Given the description of an element on the screen output the (x, y) to click on. 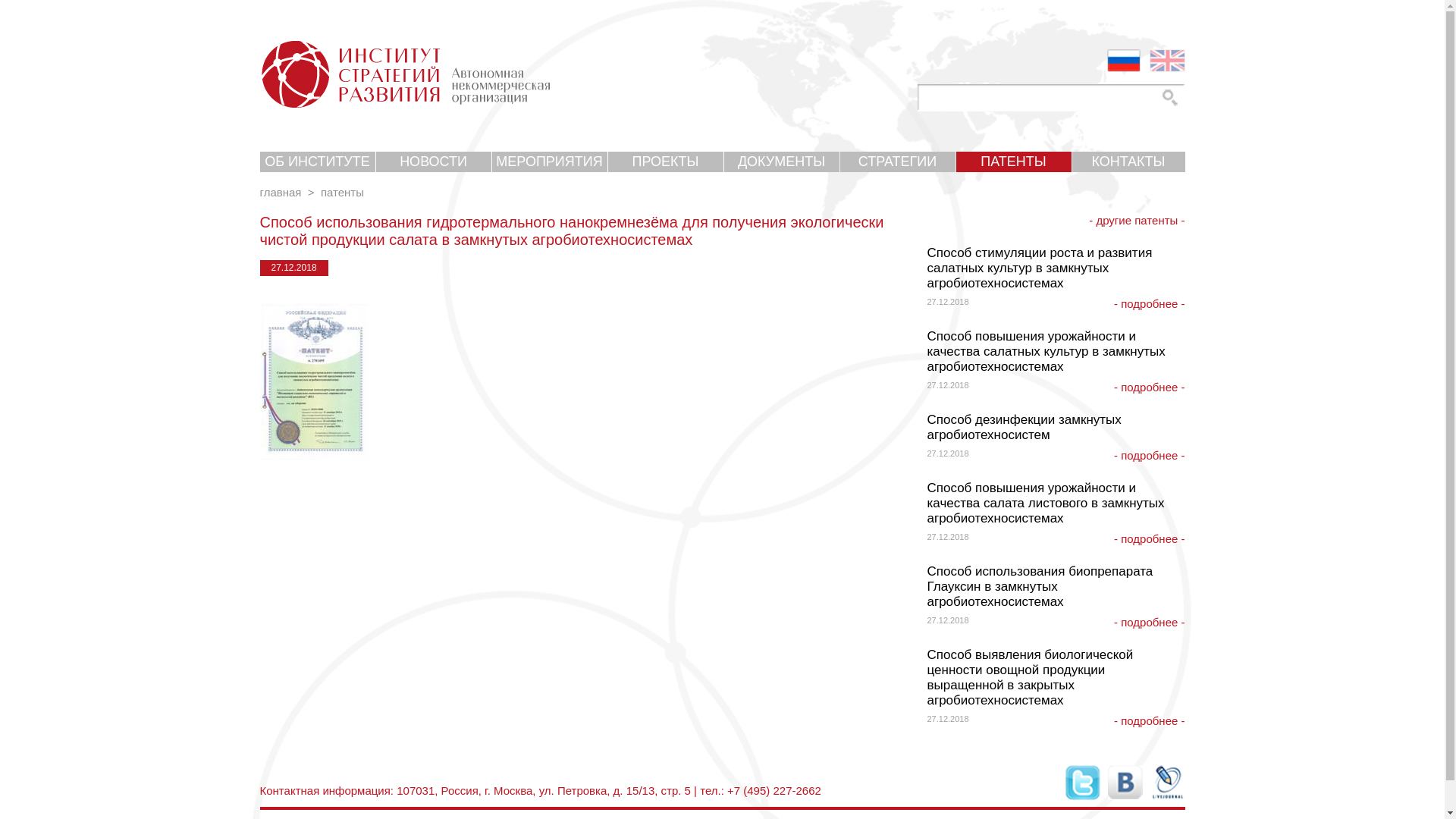
English Element type: hover (1167, 60)
Twitter Element type: hover (1081, 782)
